Given the description of an element on the screen output the (x, y) to click on. 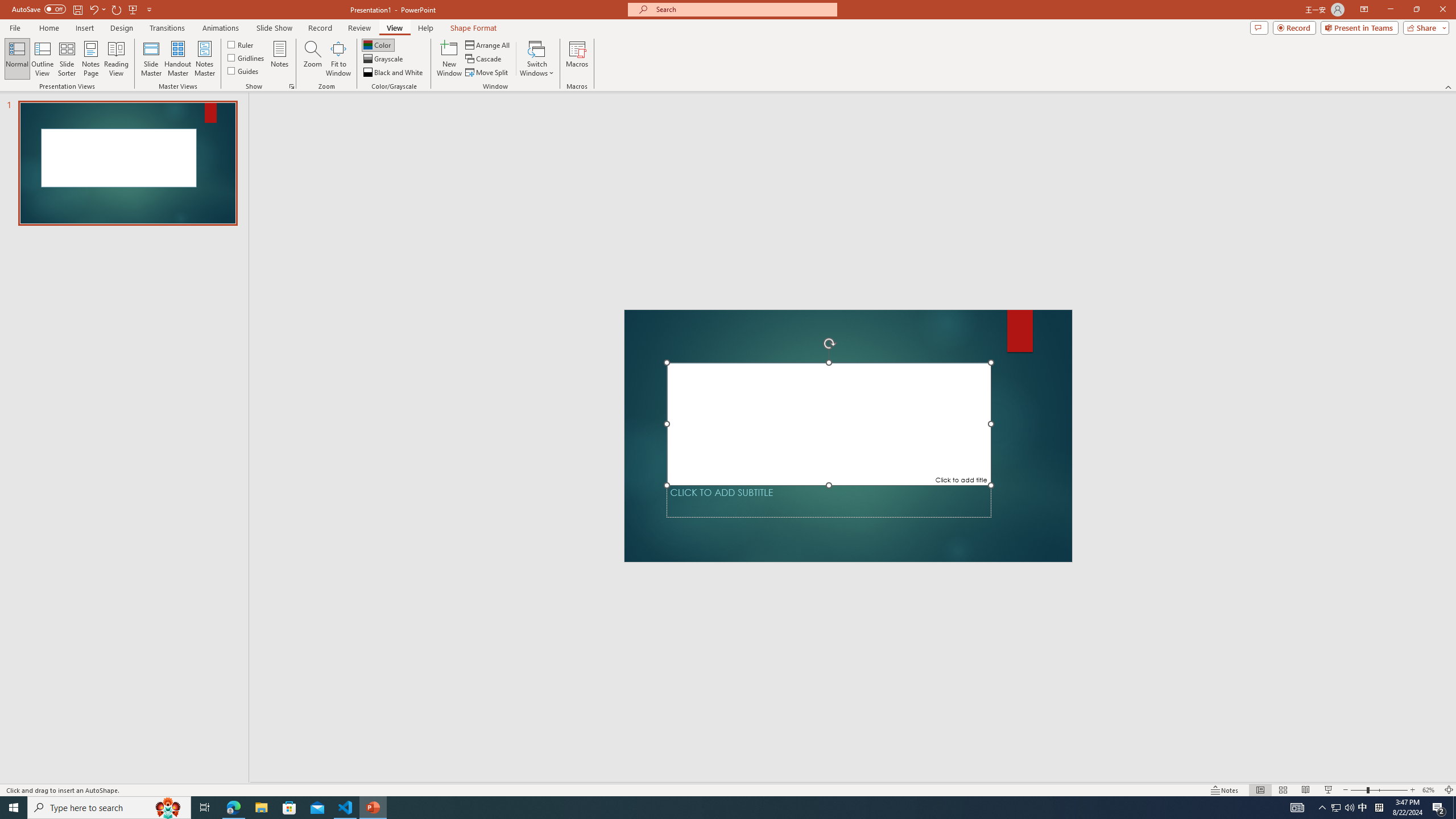
Grid Settings... (291, 85)
Zoom 62% (1430, 790)
Slide Master (151, 58)
Switch Windows (537, 58)
Subtitle TextBox (828, 500)
